Given the description of an element on the screen output the (x, y) to click on. 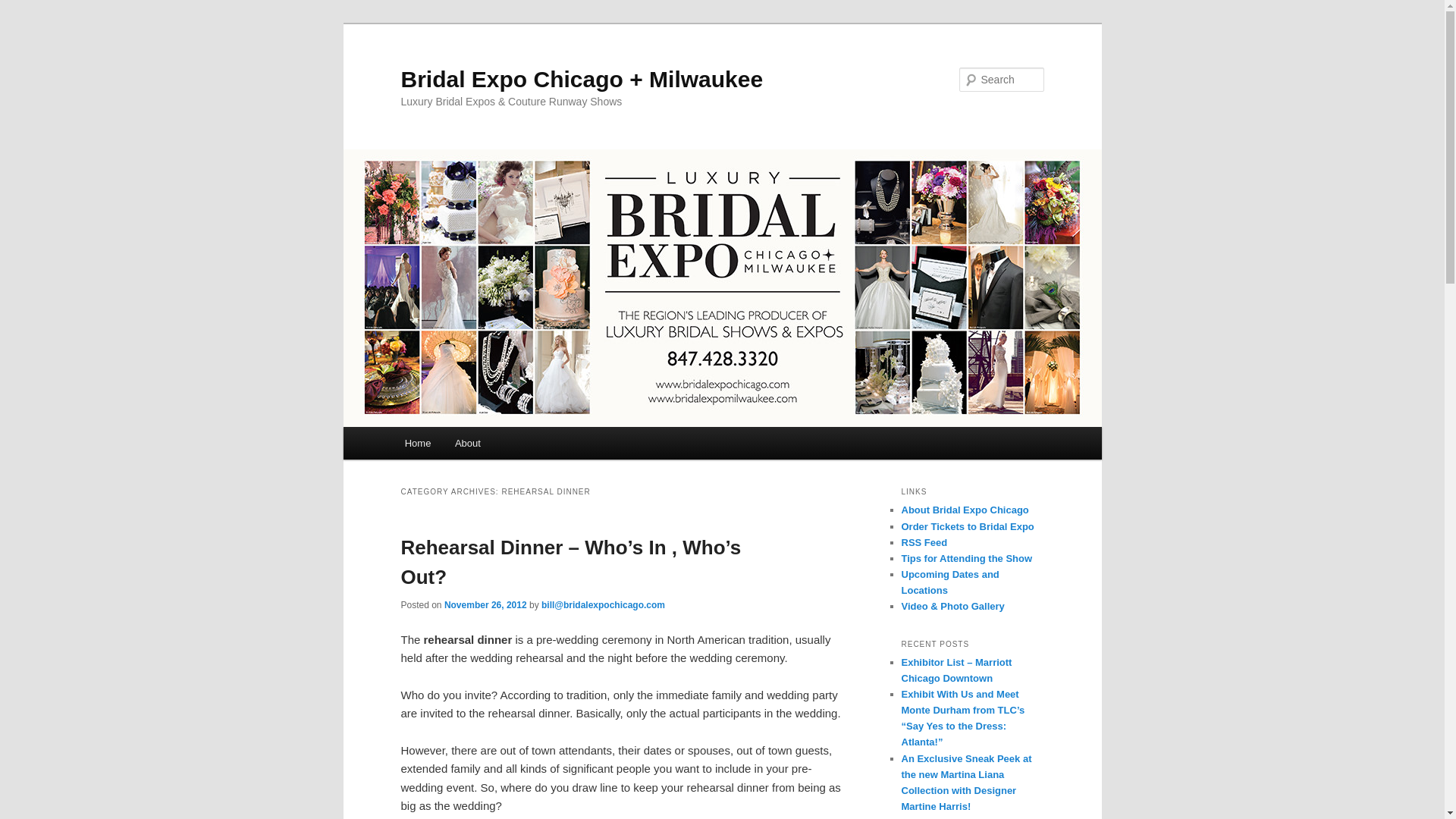
About (467, 442)
8:47 pm (485, 604)
Home (417, 442)
Chicago Bridal Shows (949, 582)
Search (24, 8)
November 26, 2012 (485, 604)
